Given the description of an element on the screen output the (x, y) to click on. 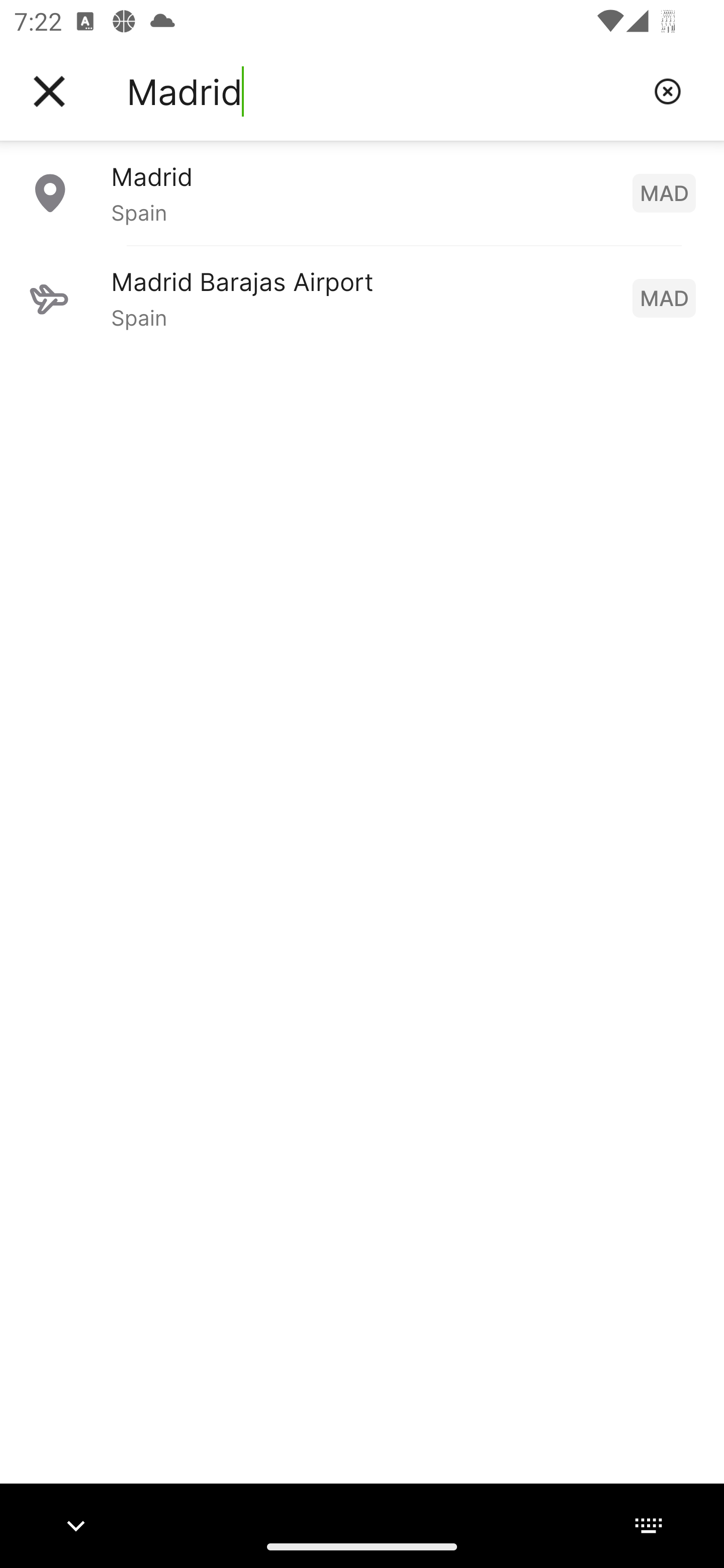
Madrid (382, 91)
Madrid Spain MAD (362, 192)
Madrid Barajas Airport Spain MAD (362, 297)
